Given the description of an element on the screen output the (x, y) to click on. 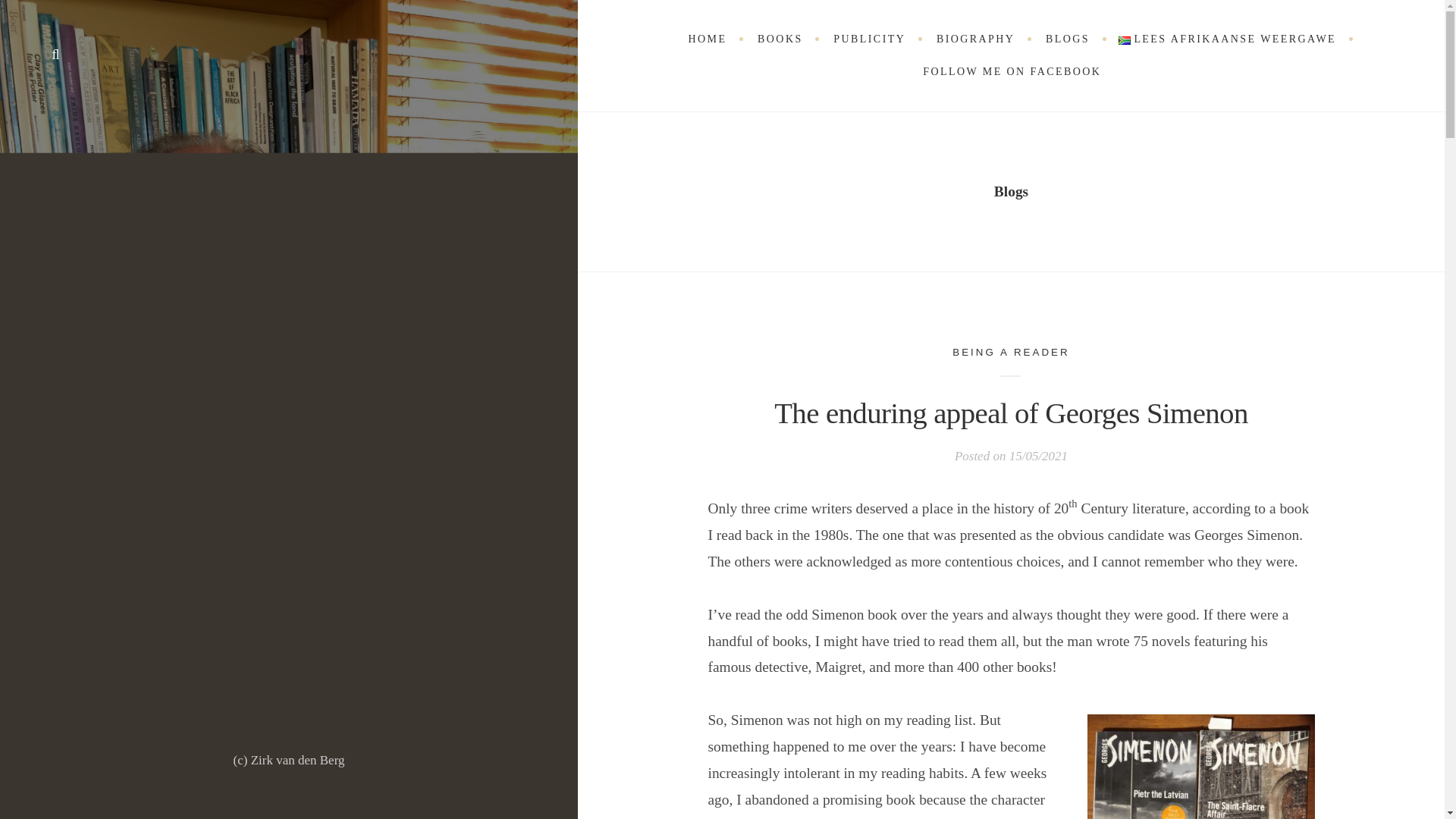
BOOKS (778, 38)
FOLLOW ME ON FACEBOOK (1011, 71)
PUBLICITY (868, 38)
HOME (706, 38)
BIOGRAPHY (974, 38)
BLOGS (1066, 38)
BEING A READER (1010, 351)
LEES AFRIKAANSE WEERGAWE (1227, 38)
Lees Afrikaanse weergawe (1124, 40)
The enduring appeal of Georges Simenon (1010, 412)
